Given the description of an element on the screen output the (x, y) to click on. 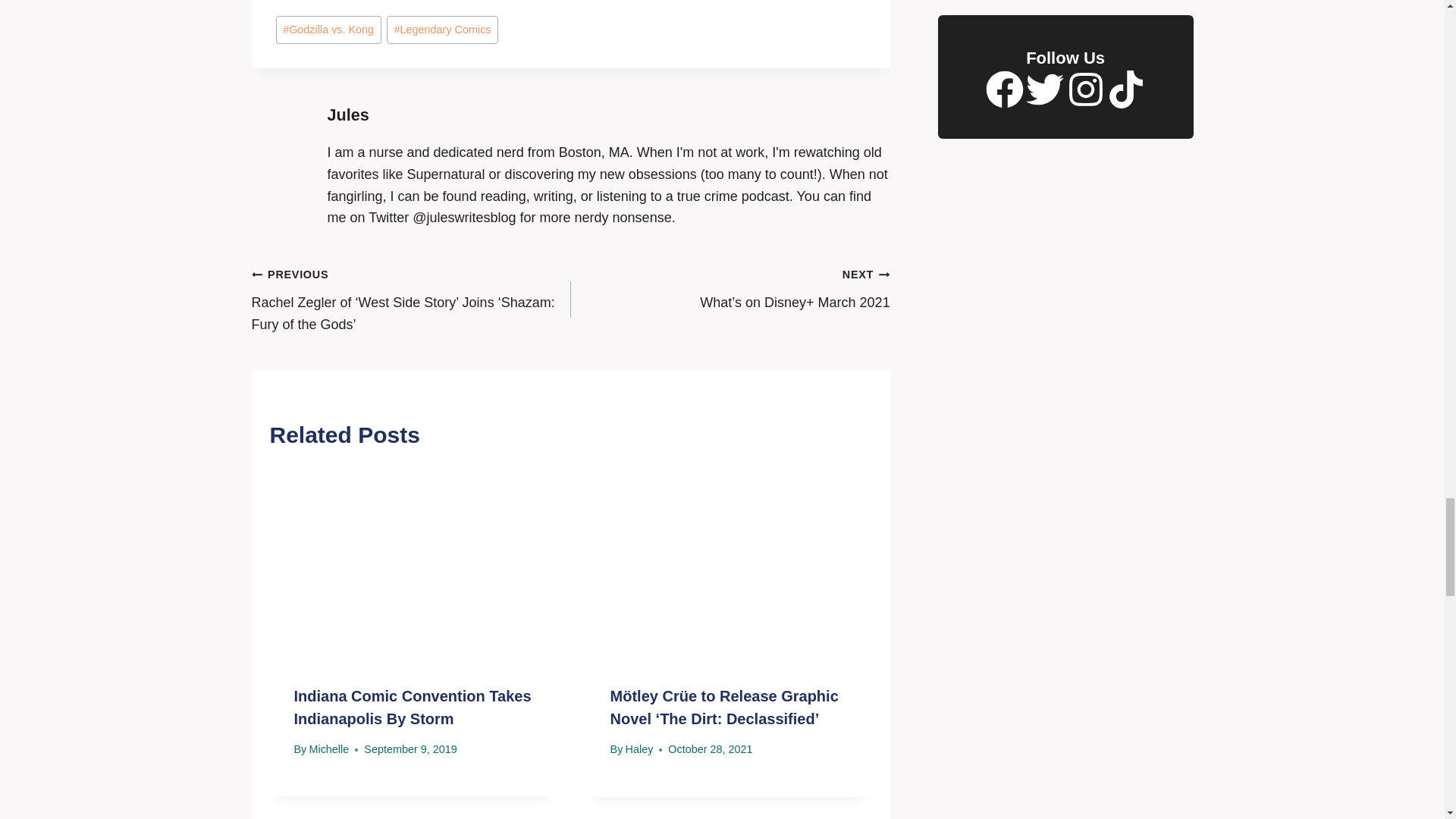
Godzilla vs. Kong (328, 29)
Posts by Jules (348, 114)
Legendary Comics (442, 29)
